Given the description of an element on the screen output the (x, y) to click on. 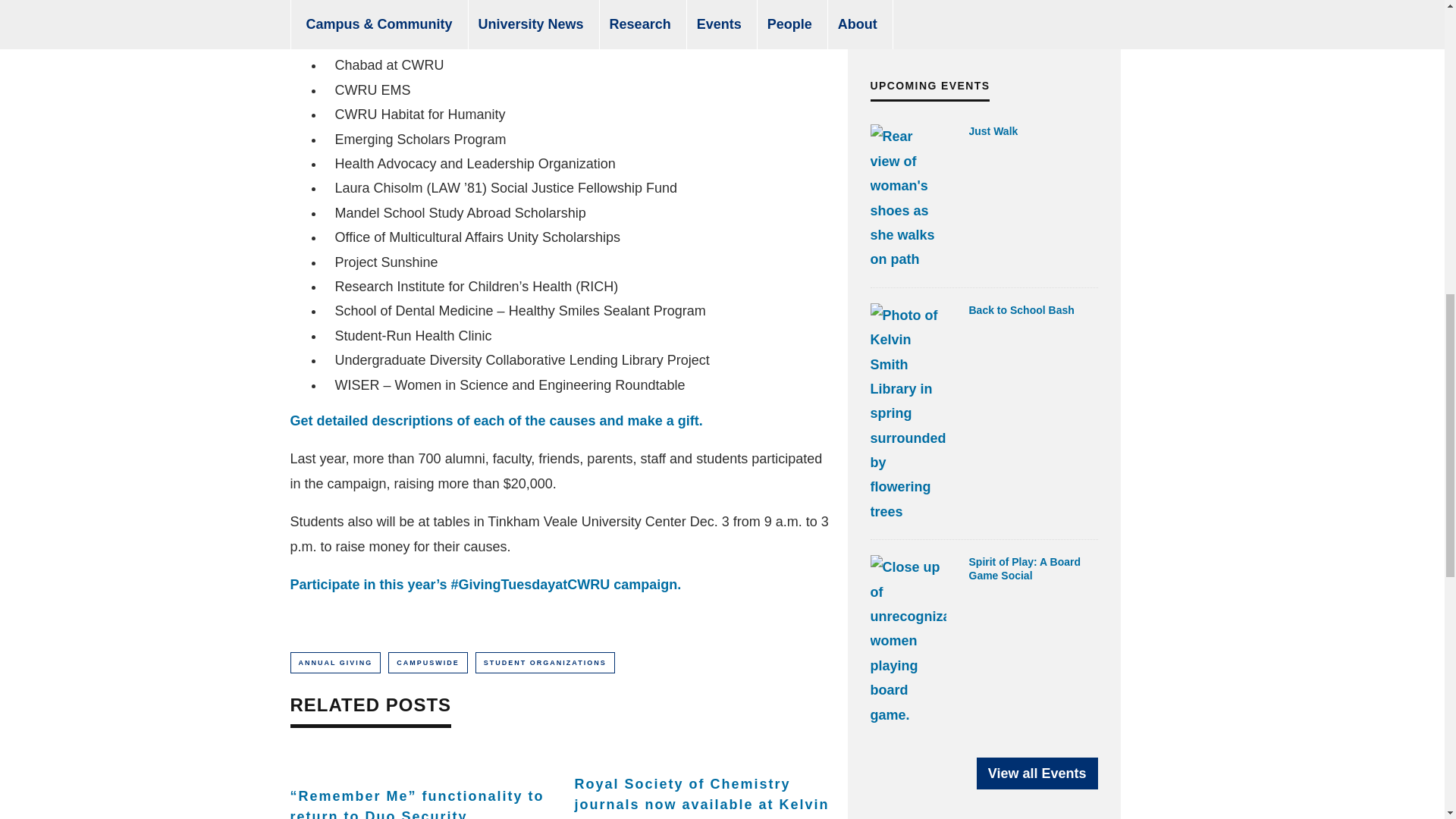
View all Recently Featured (999, 25)
ANNUAL GIVING (334, 662)
STUDENT ORGANIZATIONS (545, 662)
CAMPUSWIDE (427, 662)
